Given the description of an element on the screen output the (x, y) to click on. 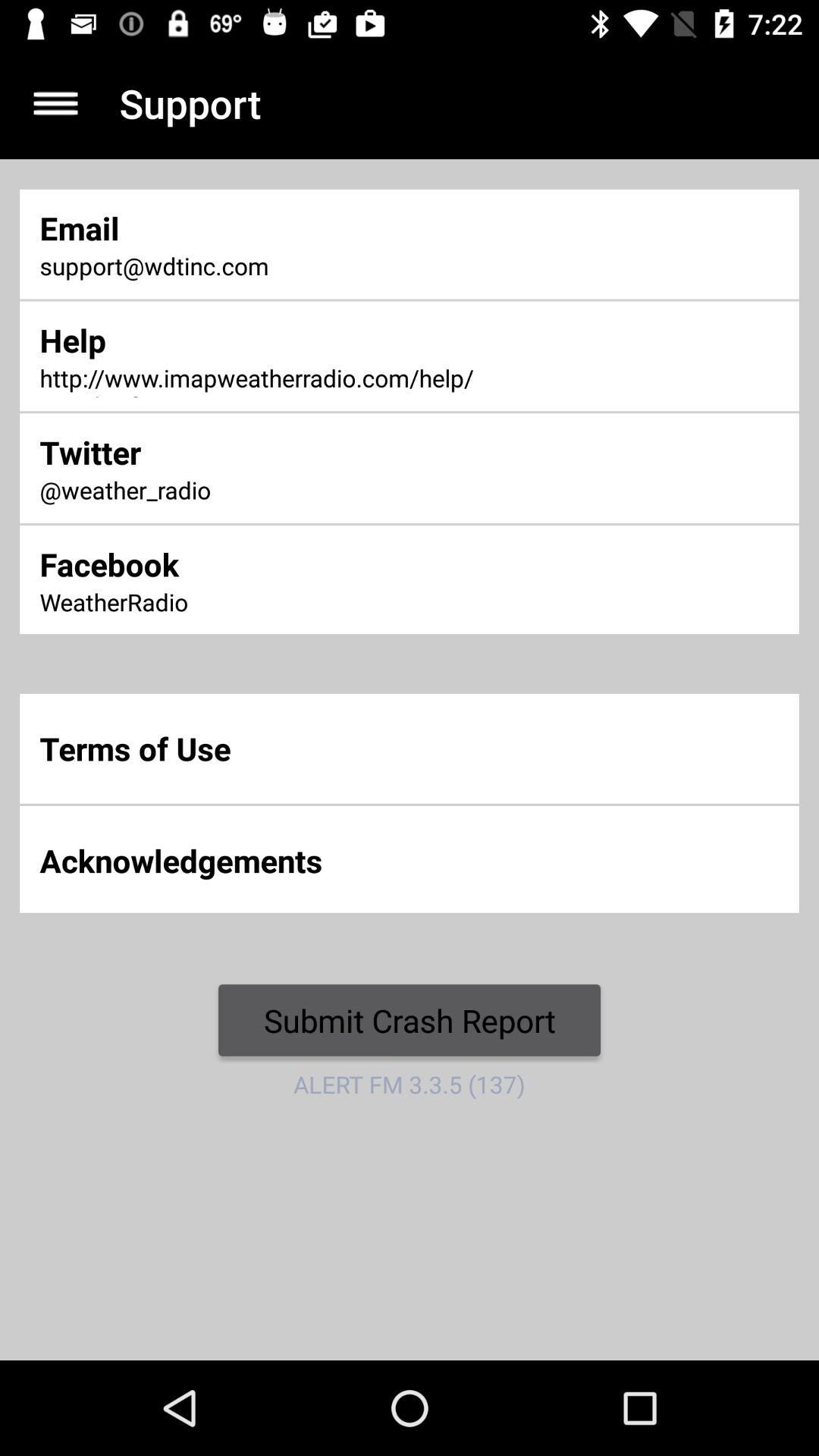
launch http www imapweatherradio item (270, 379)
